Given the description of an element on the screen output the (x, y) to click on. 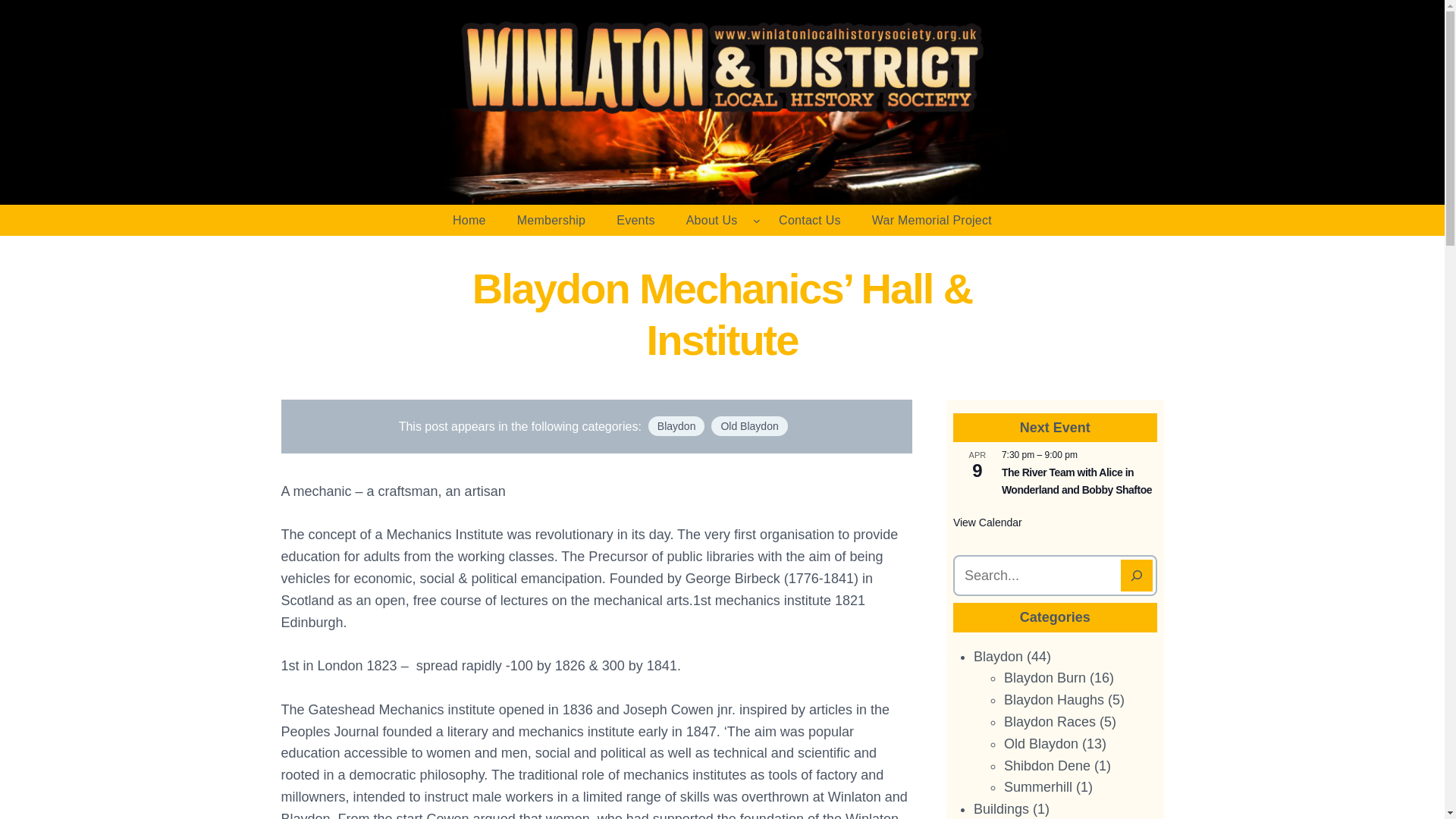
War Memorial Project (932, 220)
View more events. (987, 522)
Shibdon Dene (1047, 765)
Blaydon (675, 425)
Blaydon Burn (1045, 677)
The River Team with Alice in Wonderland and Bobby Shaftoe (1076, 481)
Events (635, 220)
Contact Us (810, 220)
Summerhill (1037, 786)
Membership (551, 220)
